Given the description of an element on the screen output the (x, y) to click on. 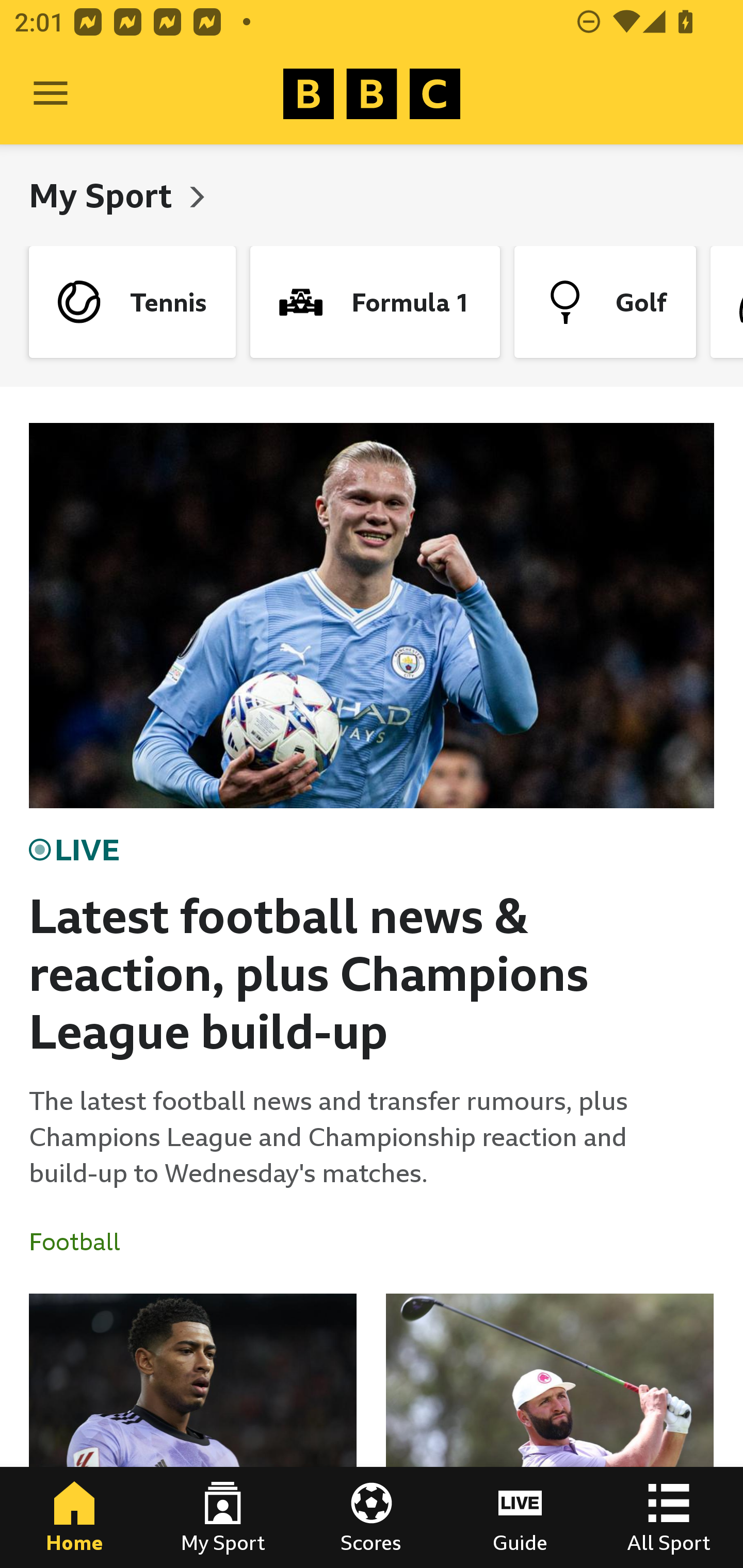
Open Menu (50, 93)
My Sport (104, 195)
Football In the section Football (81, 1241)
Real midfielder Bellingham banned for two games (192, 1430)
My Sport (222, 1517)
Scores (371, 1517)
Guide (519, 1517)
All Sport (668, 1517)
